Given the description of an element on the screen output the (x, y) to click on. 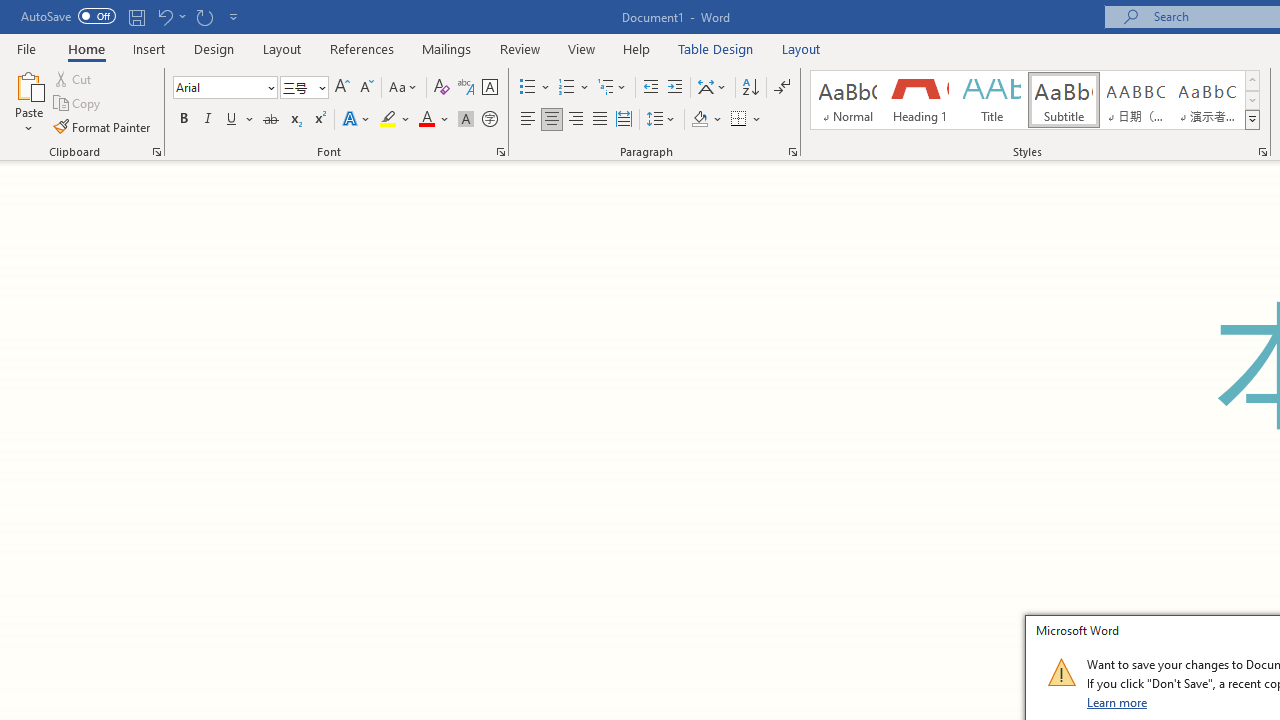
Font Color Red (426, 119)
